Given the description of an element on the screen output the (x, y) to click on. 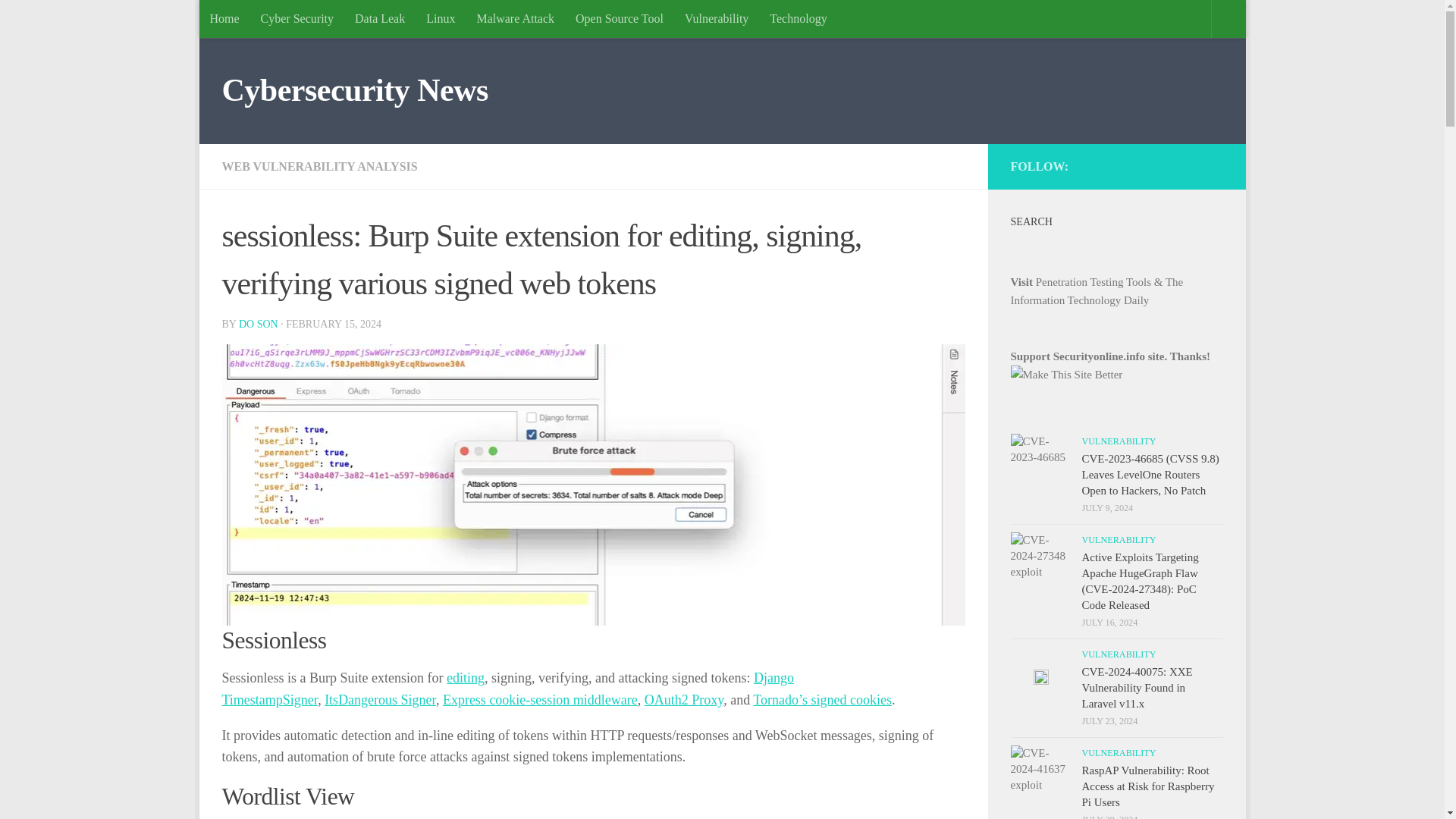
Open Source Tool (619, 18)
Home (223, 18)
Skip to content (258, 20)
OAuth2 Proxy (684, 699)
Posts by do son (258, 324)
Cybersecurity News (354, 90)
DO SON (258, 324)
Express cookie-session middleware (539, 699)
editing (465, 677)
Linux (439, 18)
